Given the description of an element on the screen output the (x, y) to click on. 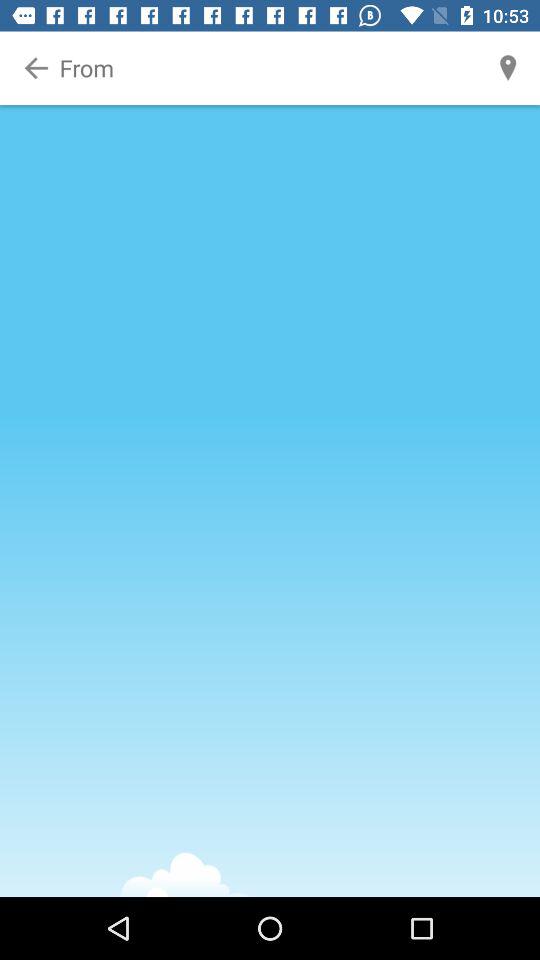
click to return to the previous page (35, 67)
